Given the description of an element on the screen output the (x, y) to click on. 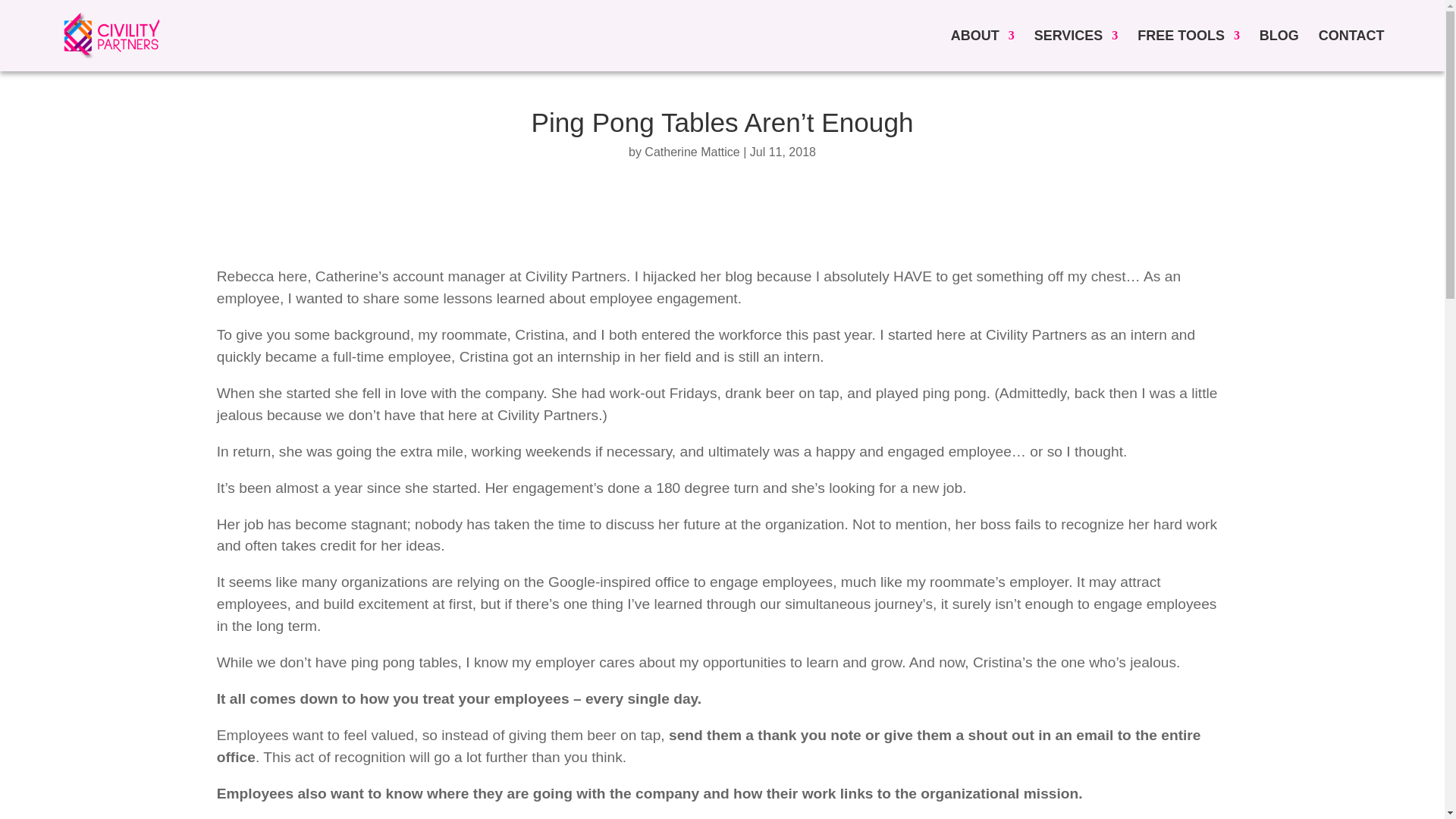
SERVICES (1075, 50)
ABOUT (982, 50)
